Given the description of an element on the screen output the (x, y) to click on. 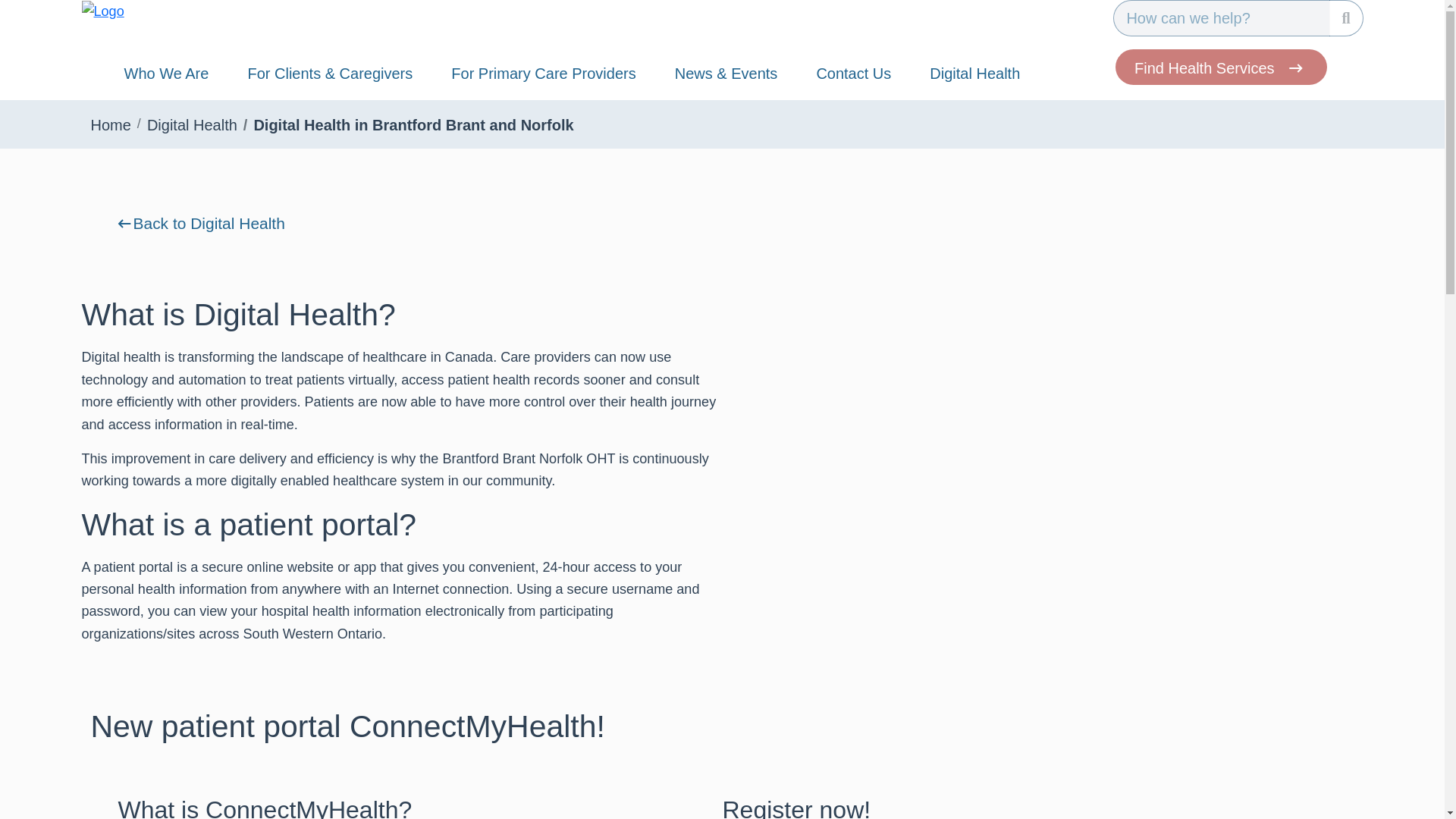
For Primary Care Providers (543, 75)
Contact Us (852, 75)
Home (110, 125)
Back to Digital Health (192, 223)
Digital Health (974, 75)
Find Health Services (1220, 67)
Who We Are (166, 75)
Digital Health (192, 125)
